Given the description of an element on the screen output the (x, y) to click on. 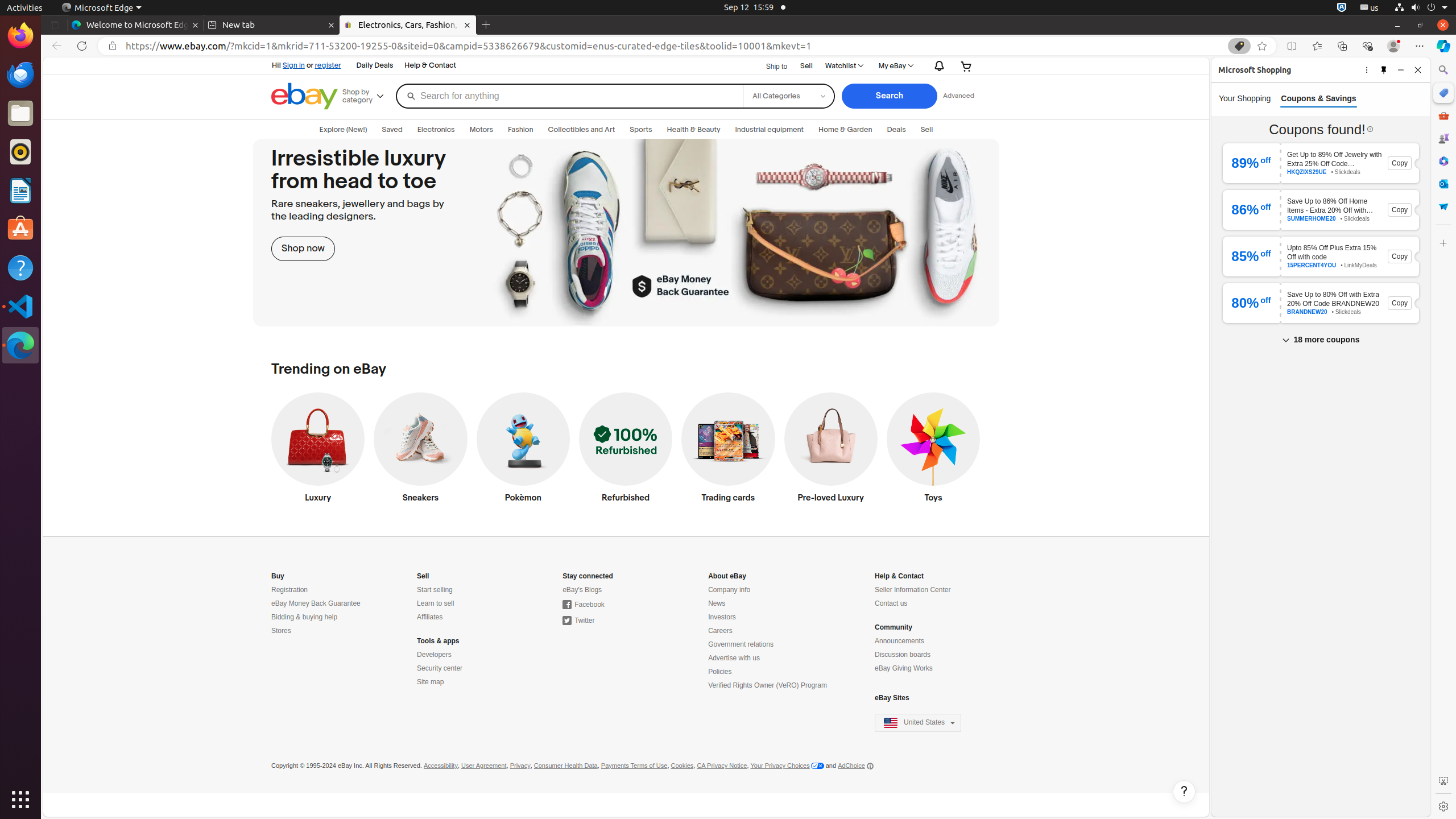
Contact us Element type: link (890, 603)
Sneakers Element type: link (420, 450)
Profile 1 Profile, Please sign in Element type: push-button (1392, 46)
eBay's Blogs Element type: link (582, 589)
LibreOffice Writer Element type: push-button (20, 190)
